Given the description of an element on the screen output the (x, y) to click on. 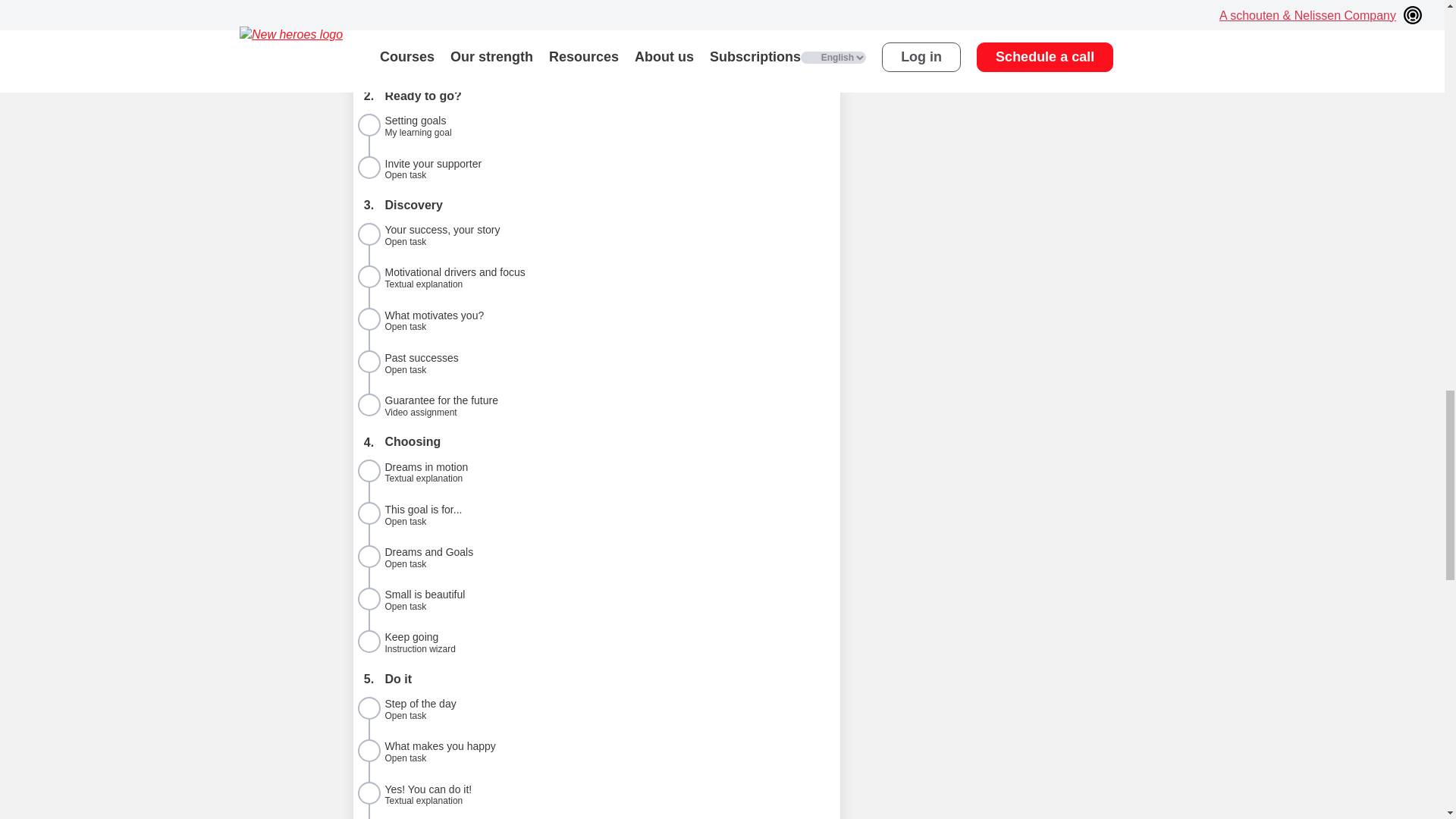
Dreams and Goals (596, 556)
This goal is for... (596, 319)
Small is beautiful (596, 513)
Setting goals (596, 233)
Past successes (596, 598)
Invite your supporter (596, 125)
